Given the description of an element on the screen output the (x, y) to click on. 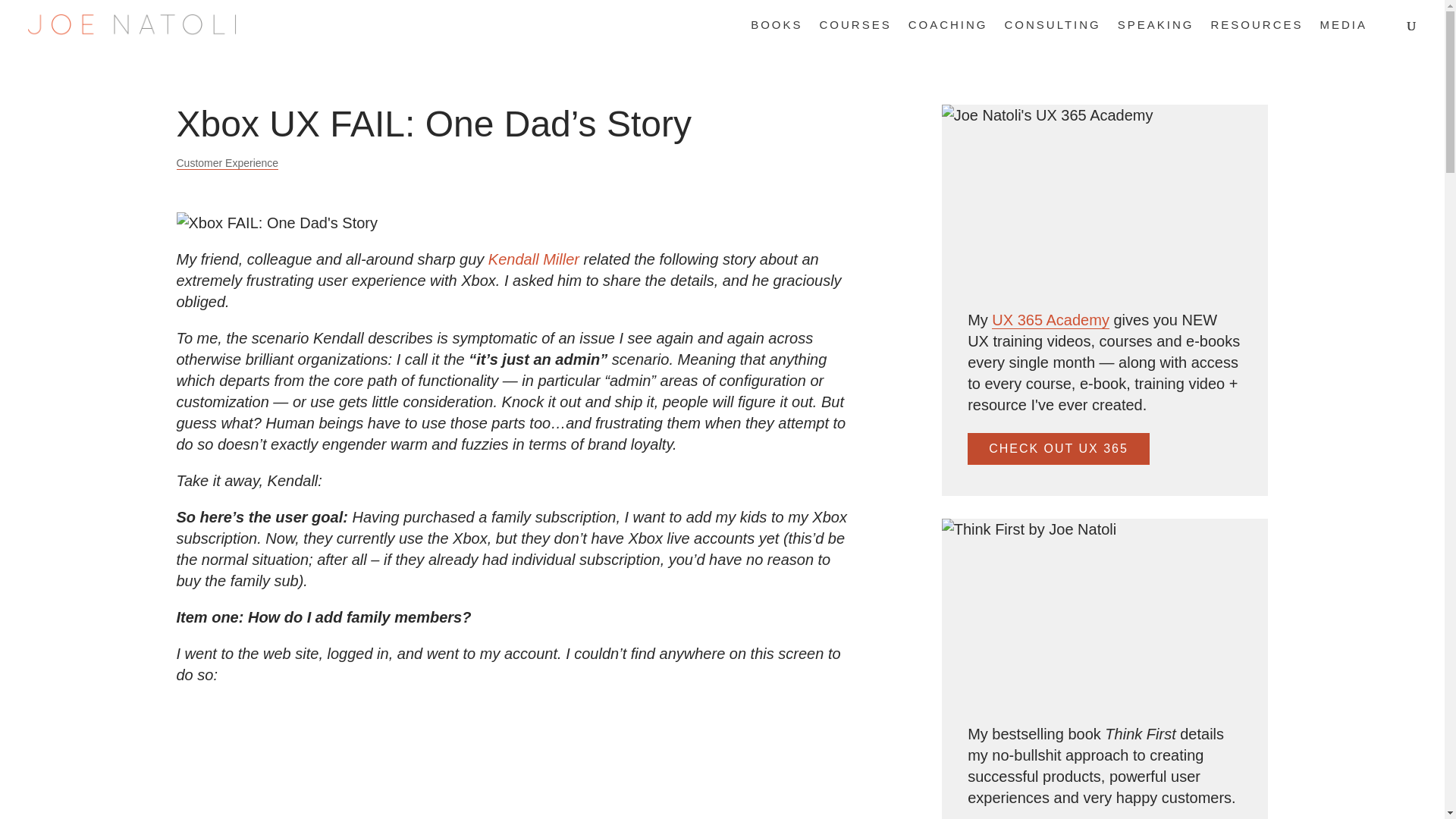
CONSULTING (1052, 34)
CHECK OUT UX 365 (1059, 449)
Customer Experience (227, 163)
SPEAKING (1155, 34)
MEDIA (1343, 34)
BOOKS (776, 34)
COURSES (854, 34)
image003 (424, 760)
UX 365 Academy (1050, 320)
Kendall Miller (533, 258)
COACHING (948, 34)
RESOURCES (1256, 34)
